Given the description of an element on the screen output the (x, y) to click on. 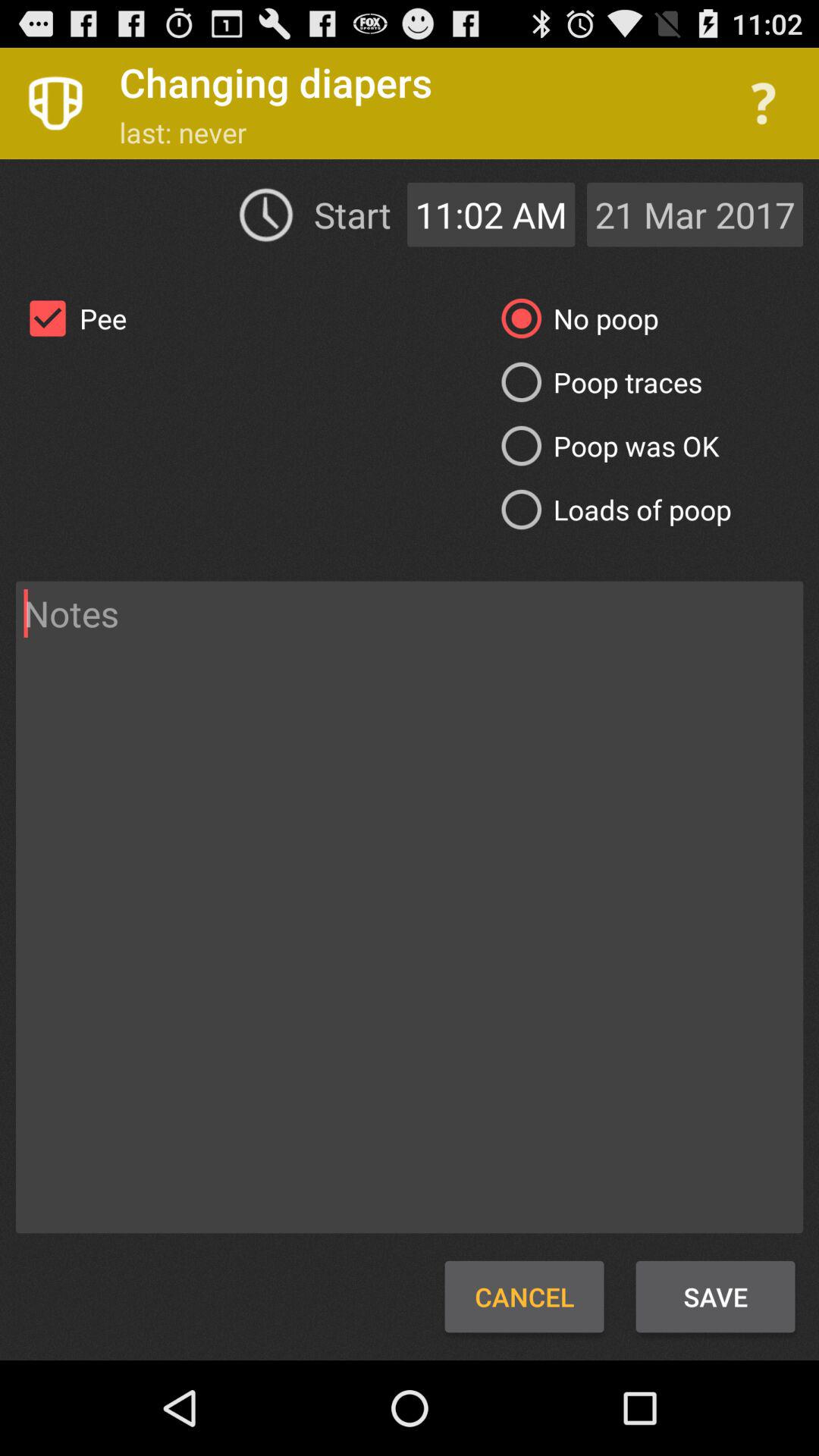
choose icon on the right (610, 509)
